Given the description of an element on the screen output the (x, y) to click on. 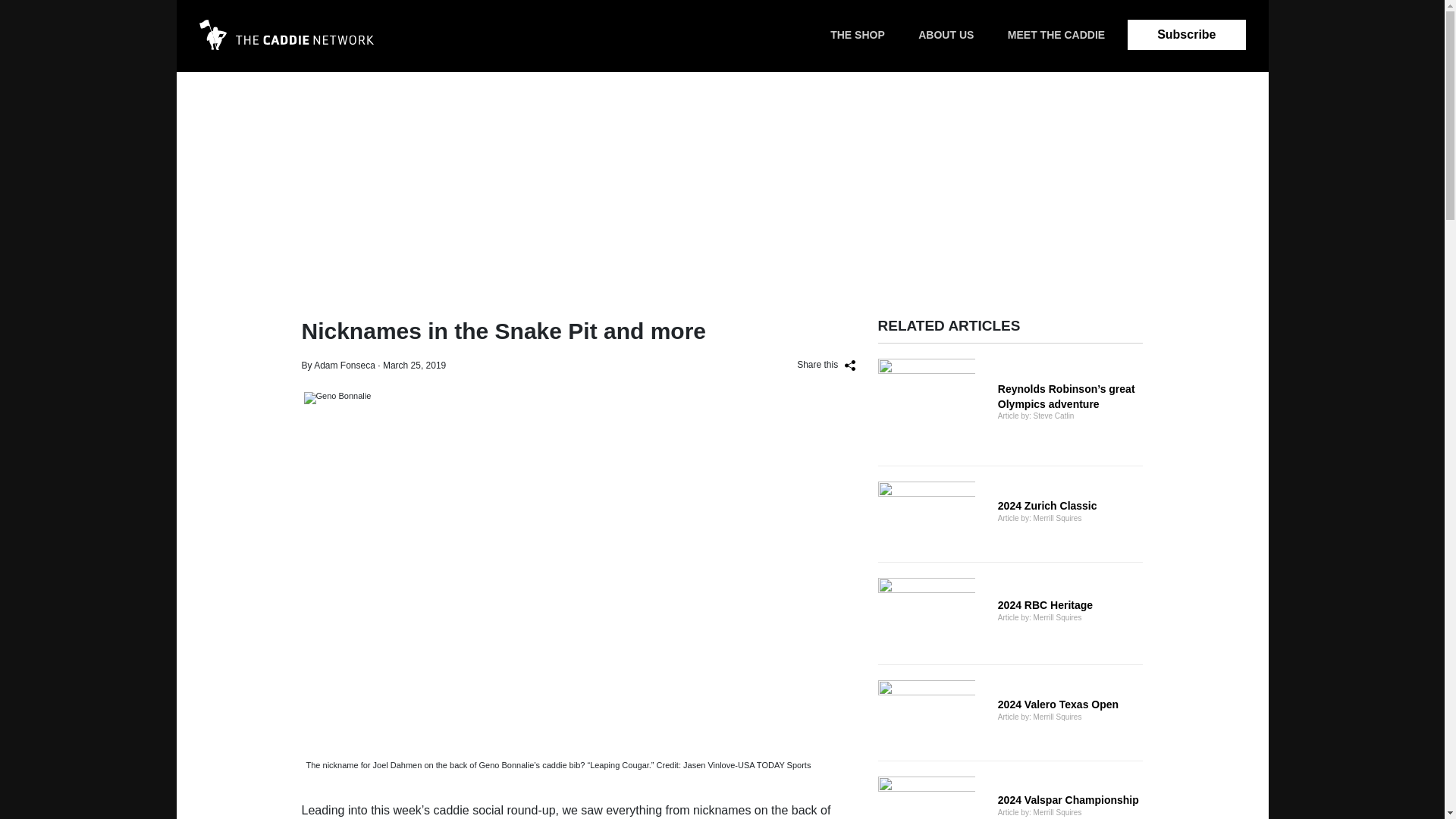
2024 RBC Heritage (1010, 797)
Group Created with Sketch. (1010, 613)
Group Created with Sketch. (1010, 613)
ABOUT US (285, 34)
THE SHOP (285, 45)
MEET THE CADDIE (1010, 514)
Subscribe (945, 35)
